Given the description of an element on the screen output the (x, y) to click on. 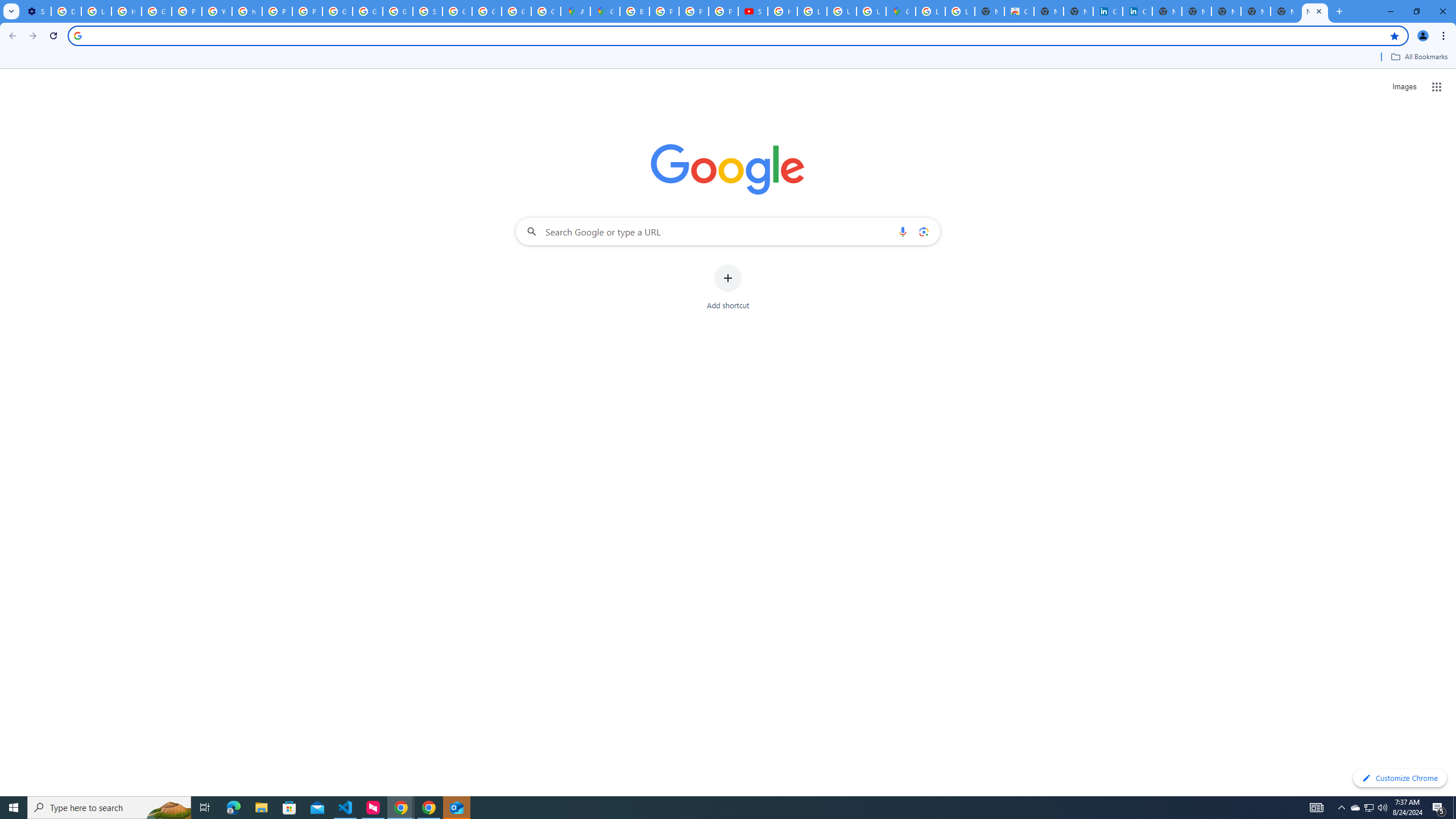
Delete photos & videos - Computer - Google Photos Help (65, 11)
Privacy Help Center - Policies Help (693, 11)
Add shortcut (727, 287)
Cookie Policy | LinkedIn (1137, 11)
